Given the description of an element on the screen output the (x, y) to click on. 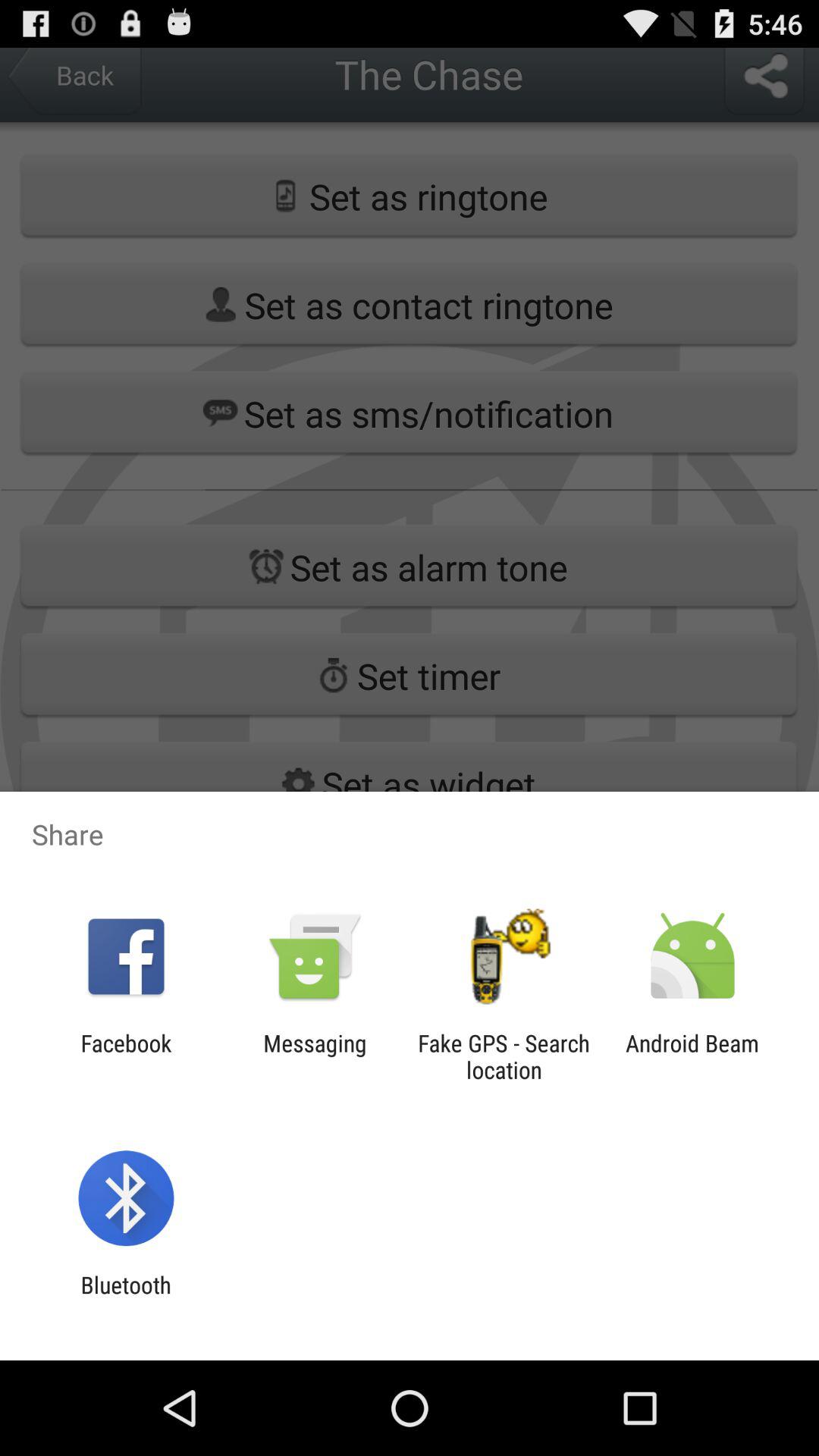
jump until fake gps search item (503, 1056)
